Given the description of an element on the screen output the (x, y) to click on. 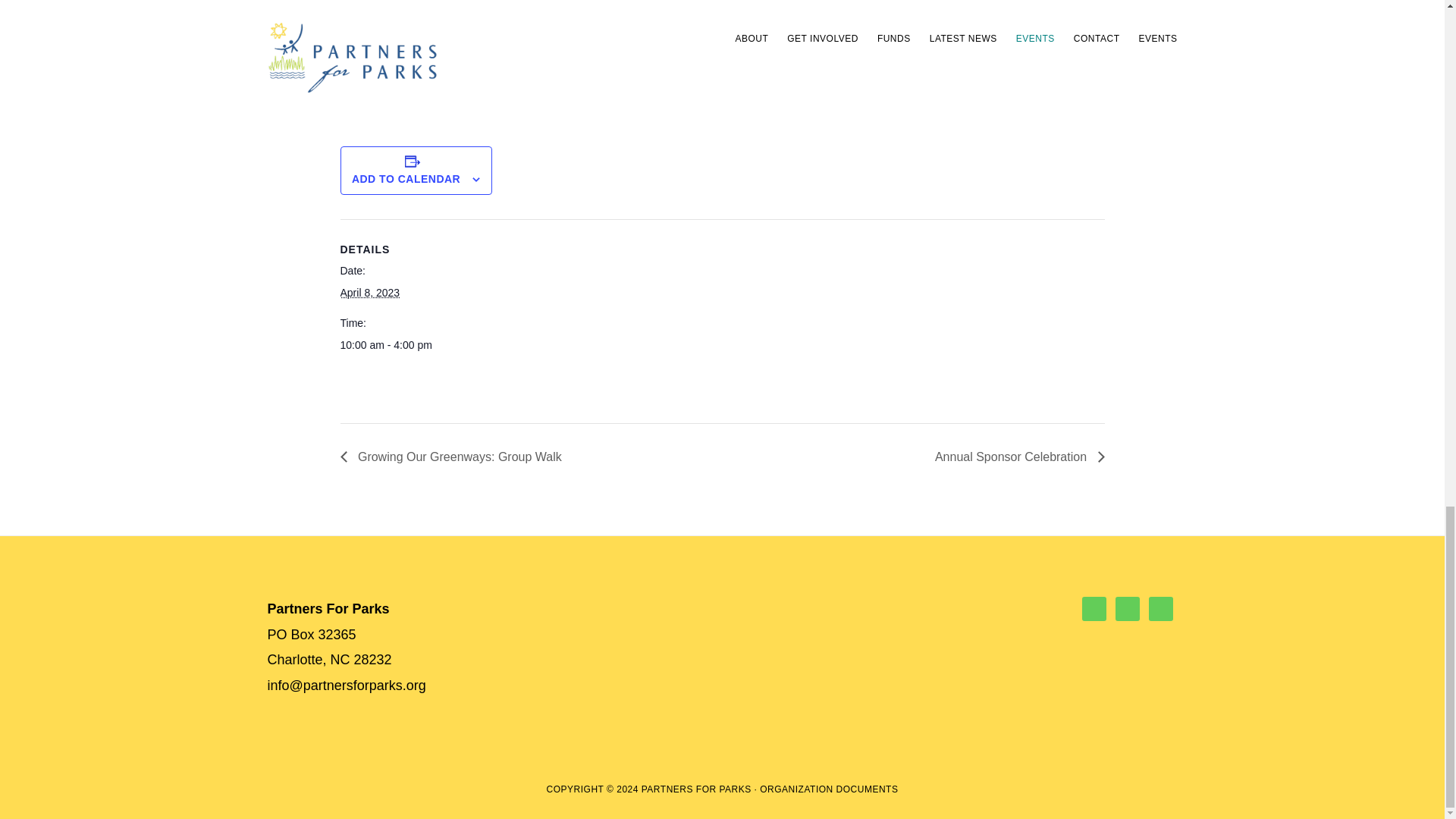
2023-04-08 (368, 292)
ORGANIZATION DOCUMENTS (829, 788)
ADD TO CALENDAR (406, 178)
Growing Our Greenways: Group Walk (454, 456)
Annual Sponsor Celebration (1015, 456)
2023-04-08 (403, 344)
